Given the description of an element on the screen output the (x, y) to click on. 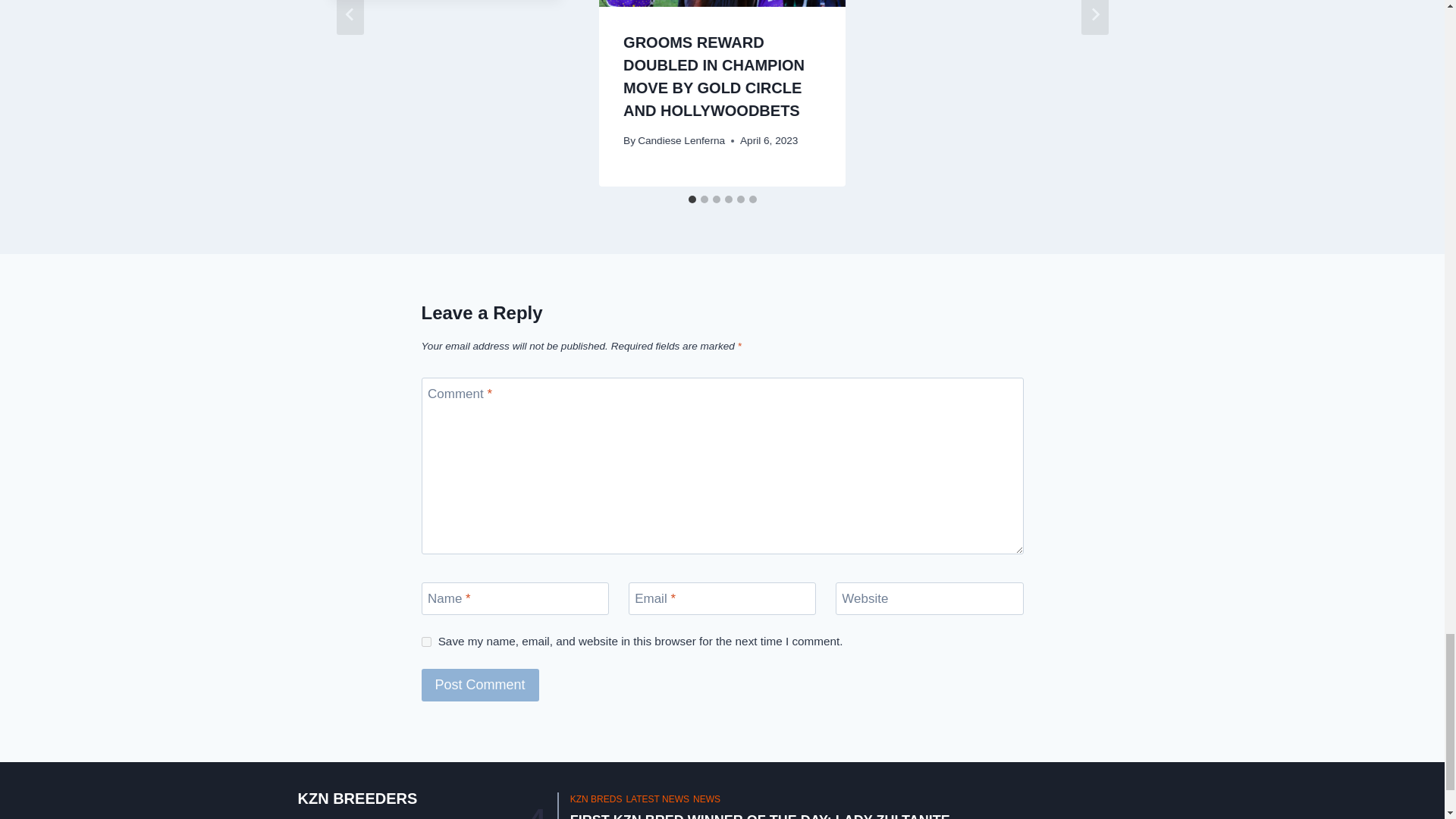
FIRST KZN BRED WINNER OF THE DAY: LADY ZULTANITE (760, 816)
Post Comment (480, 685)
yes (426, 642)
